Given the description of an element on the screen output the (x, y) to click on. 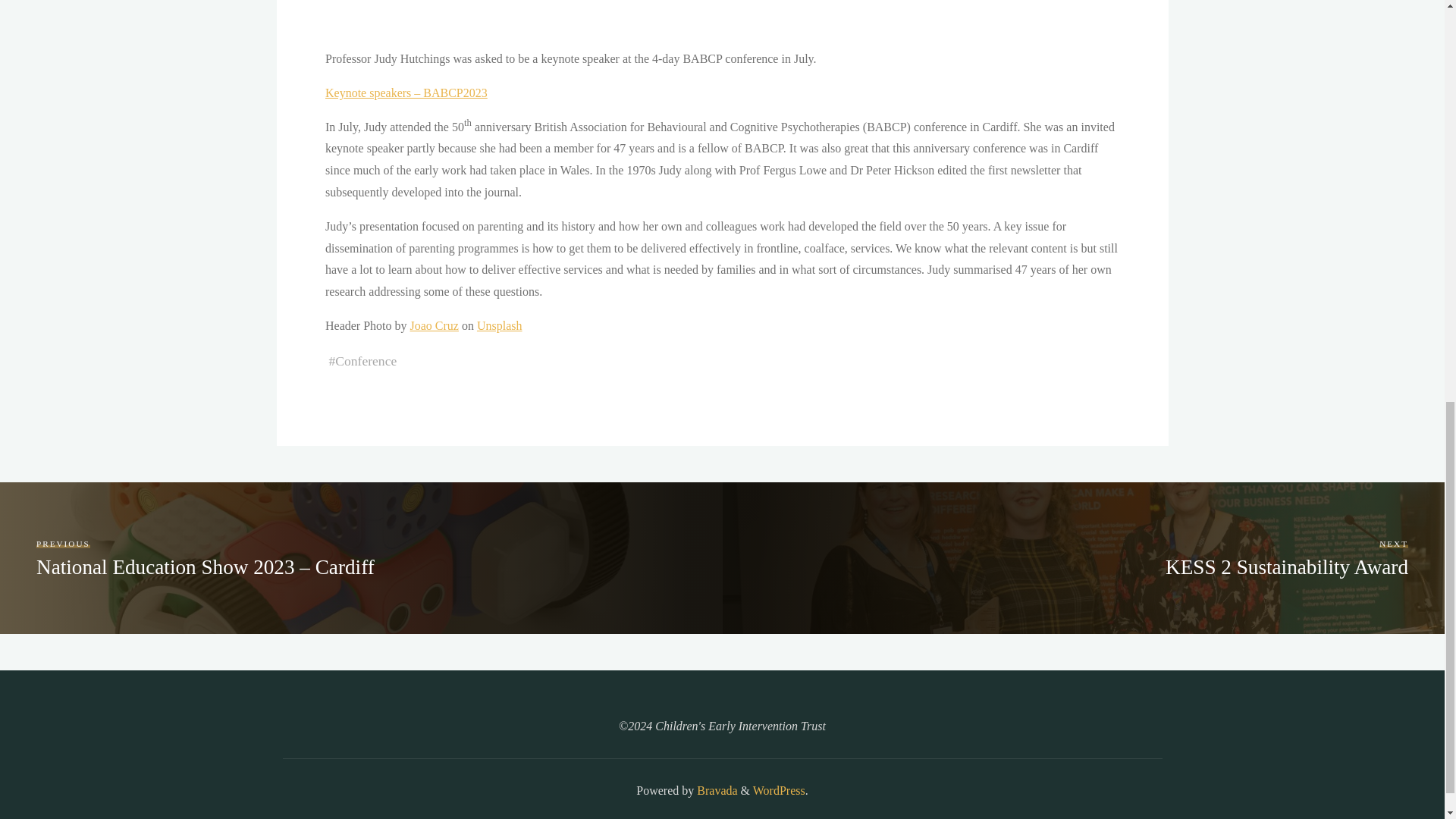
Bravada WordPress Theme by Cryout Creations (715, 789)
Unsplash (498, 325)
Joao Cruz (433, 325)
